Given the description of an element on the screen output the (x, y) to click on. 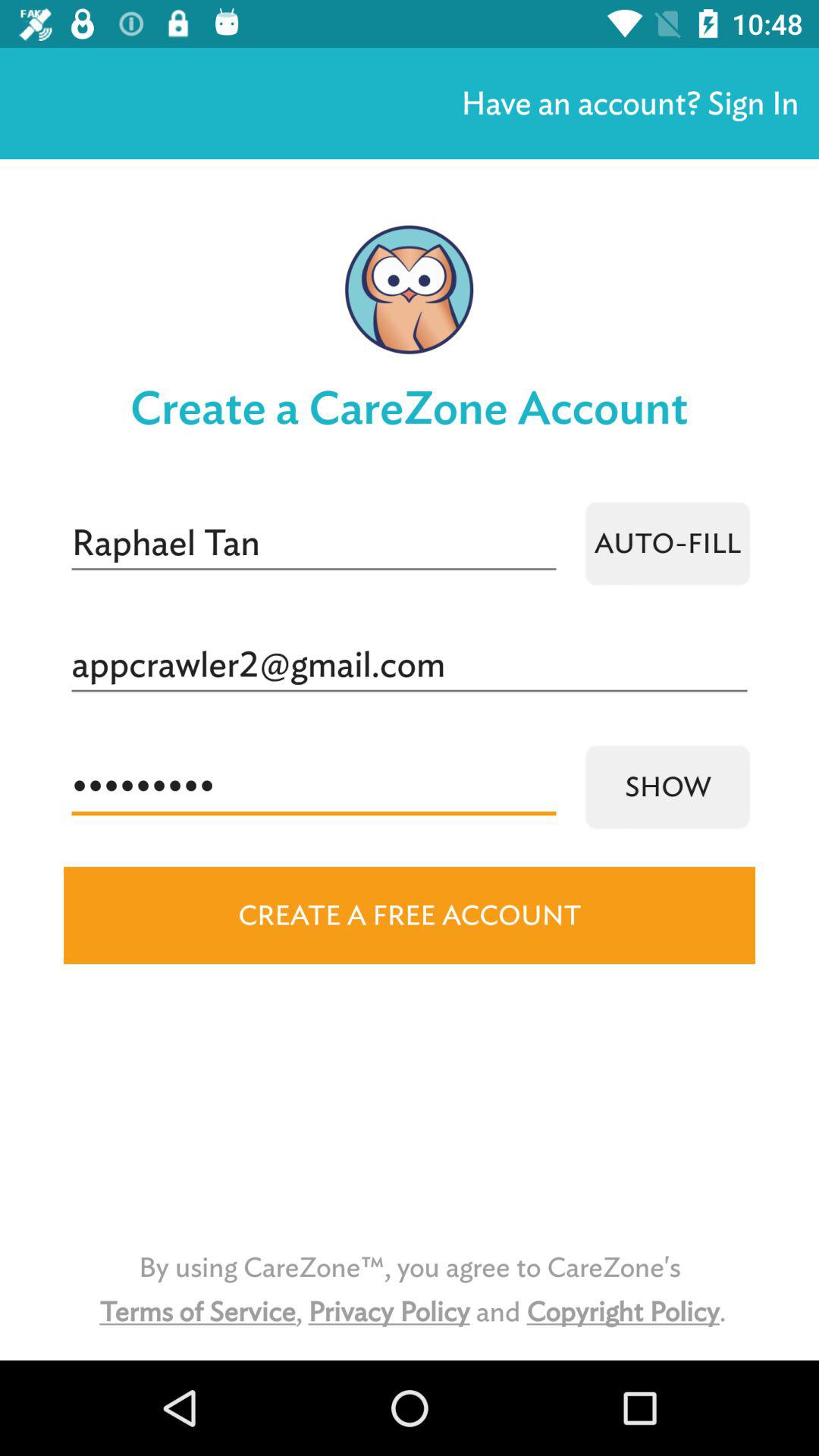
turn on the auto-fill item (667, 543)
